Given the description of an element on the screen output the (x, y) to click on. 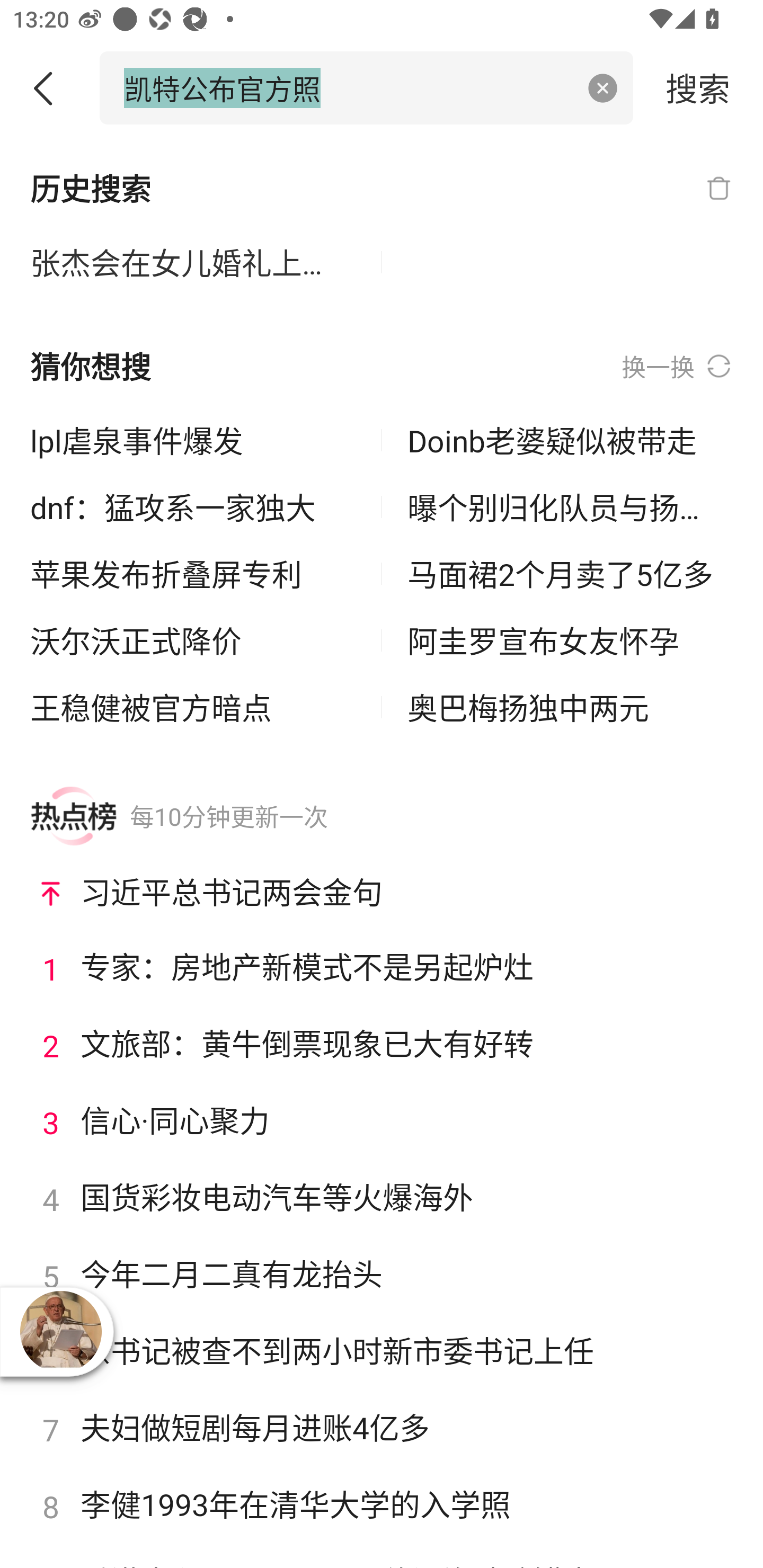
返回 (49, 87)
搜索 (698, 87)
凯特公布官方照 (347, 87)
清空 (602, 88)
张杰会在女儿婚礼上唱三生三世 (193, 262)
换一换 (676, 366)
lpl虐泉事件爆发 (193, 439)
Doinb老婆疑似被带走 (569, 439)
dnf：猛攻系一家独大 (193, 506)
曝个别归化队员与扬科维奇关系破裂 (569, 506)
苹果发布折叠屏专利 (193, 573)
马面裙2个月卖了5亿多 (569, 573)
沃尔沃正式降价 (193, 640)
阿圭罗宣布女友怀孕 (569, 640)
王稳健被官方暗点 (193, 707)
奥巴梅扬独中两元 (569, 707)
播放器 (60, 1331)
